Given the description of an element on the screen output the (x, y) to click on. 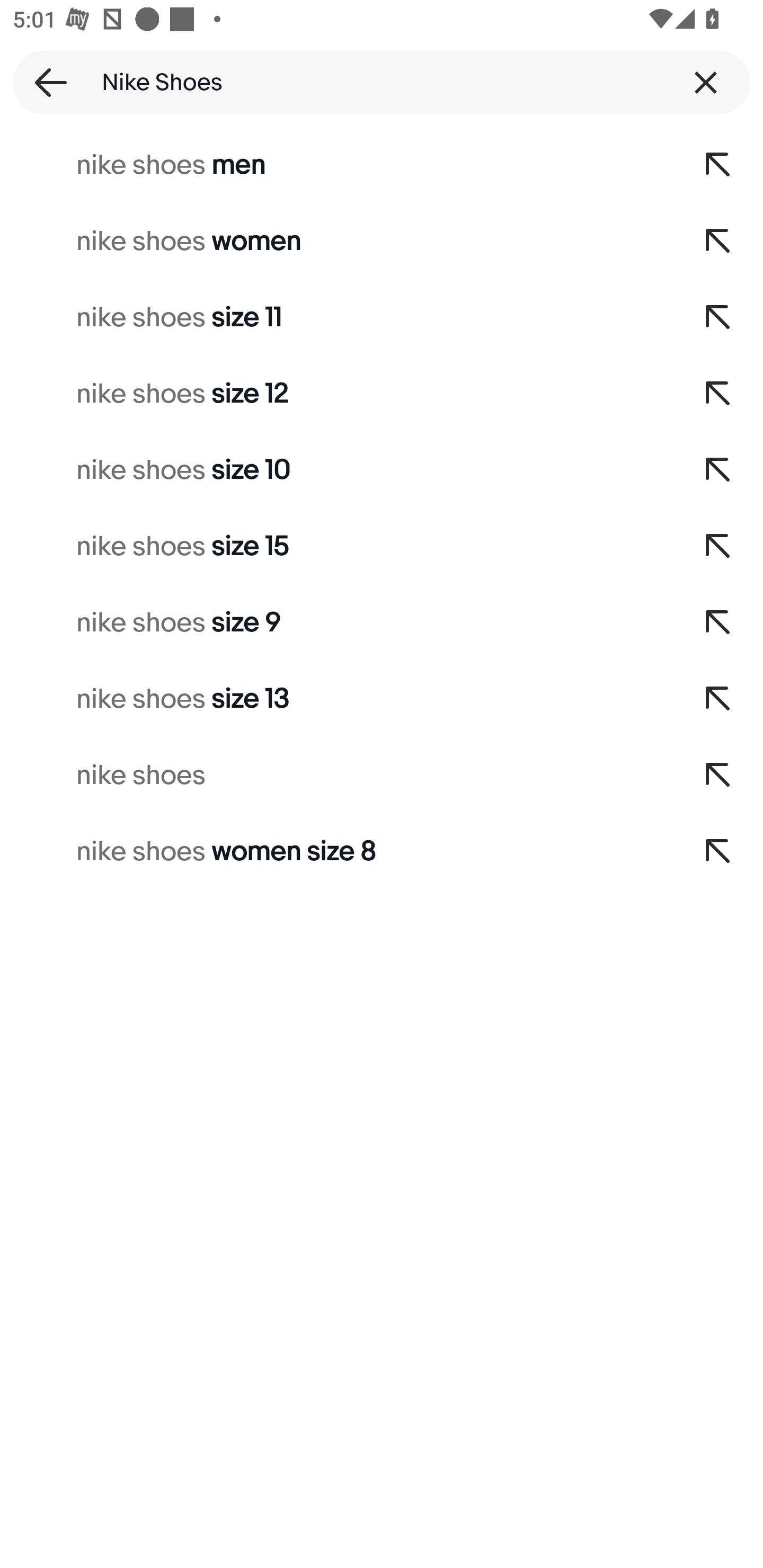
Back (44, 82)
Clear query (705, 82)
Nike Shoes (381, 82)
nike shoes men (336, 165)
Add to search query,nike shoes men (718, 165)
nike shoes women (336, 241)
Add to search query,nike shoes women (718, 241)
nike shoes size 11 (336, 317)
Add to search query,nike shoes size 11 (718, 317)
nike shoes size 12 (336, 393)
Add to search query,nike shoes size 12 (718, 393)
nike shoes size 10 (336, 470)
Add to search query,nike shoes size 10 (718, 470)
nike shoes size 15 (336, 546)
Add to search query,nike shoes size 15 (718, 546)
nike shoes size 9 (336, 622)
Add to search query,nike shoes size 9 (718, 622)
nike shoes size 13 (336, 698)
Add to search query,nike shoes size 13 (718, 698)
nike shoes (336, 774)
